Given the description of an element on the screen output the (x, y) to click on. 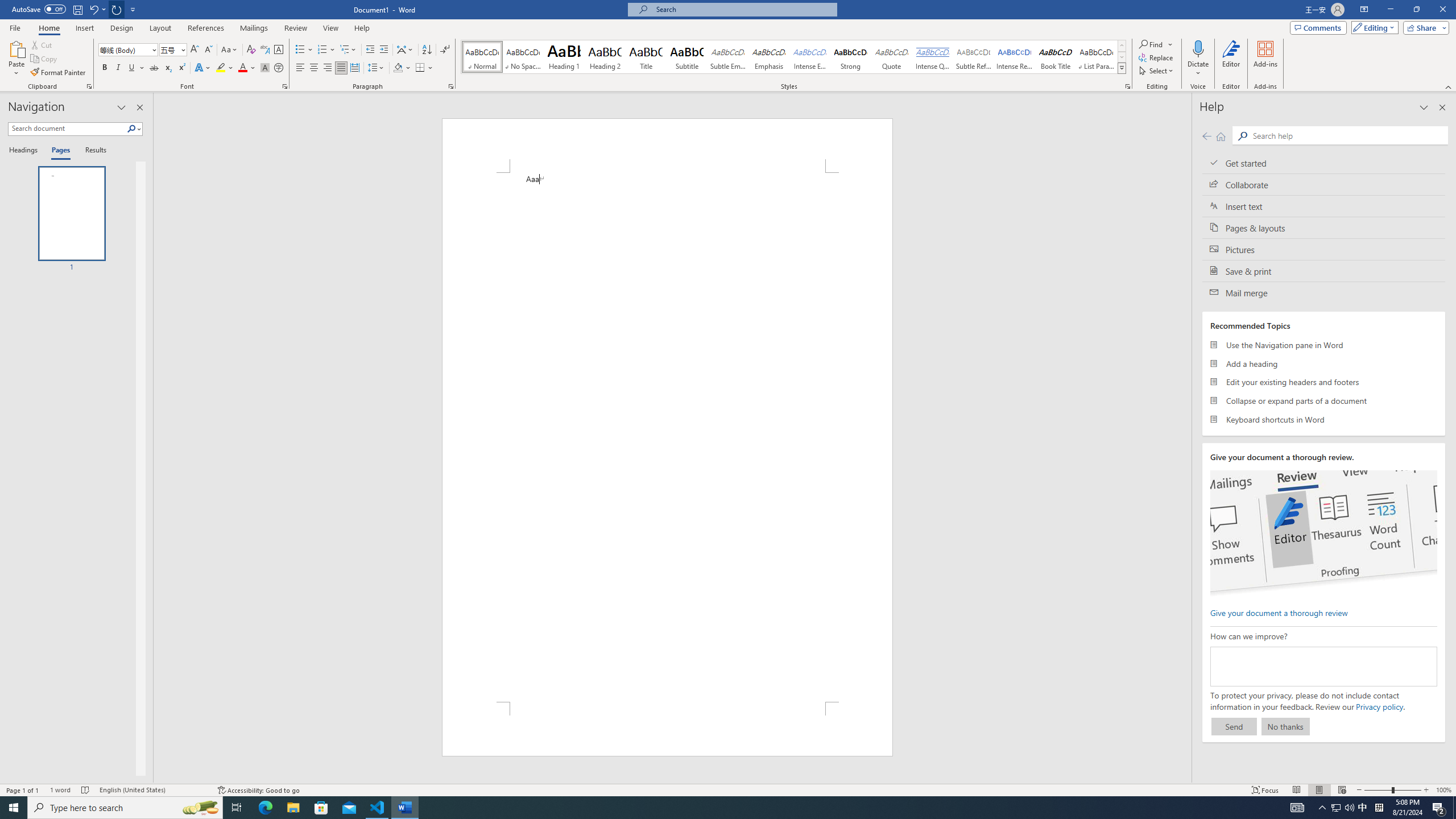
Subtle Reference (973, 56)
How can we improve? (1323, 666)
Send (1233, 726)
